Given the description of an element on the screen output the (x, y) to click on. 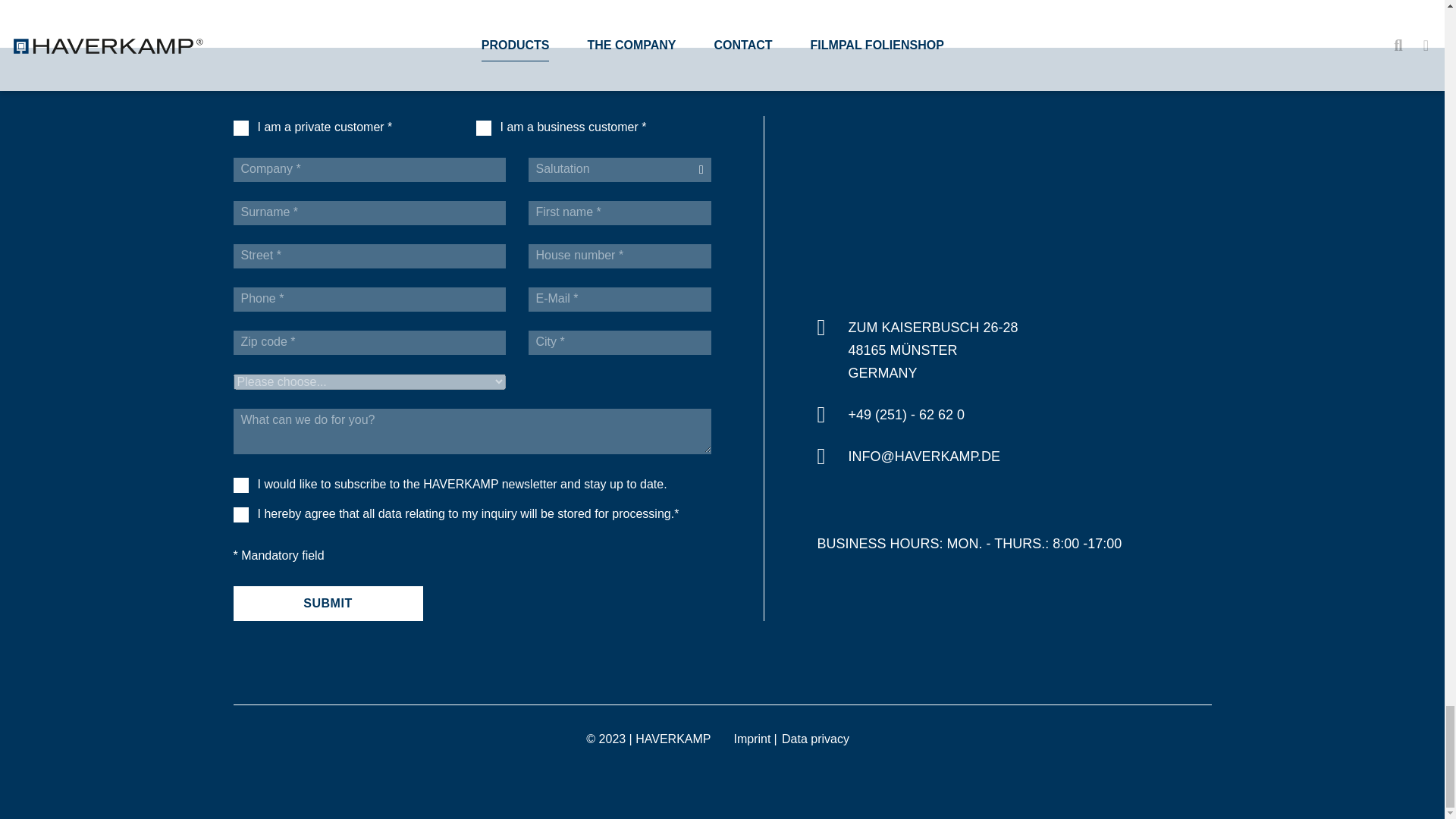
Submit (327, 603)
